Given the description of an element on the screen output the (x, y) to click on. 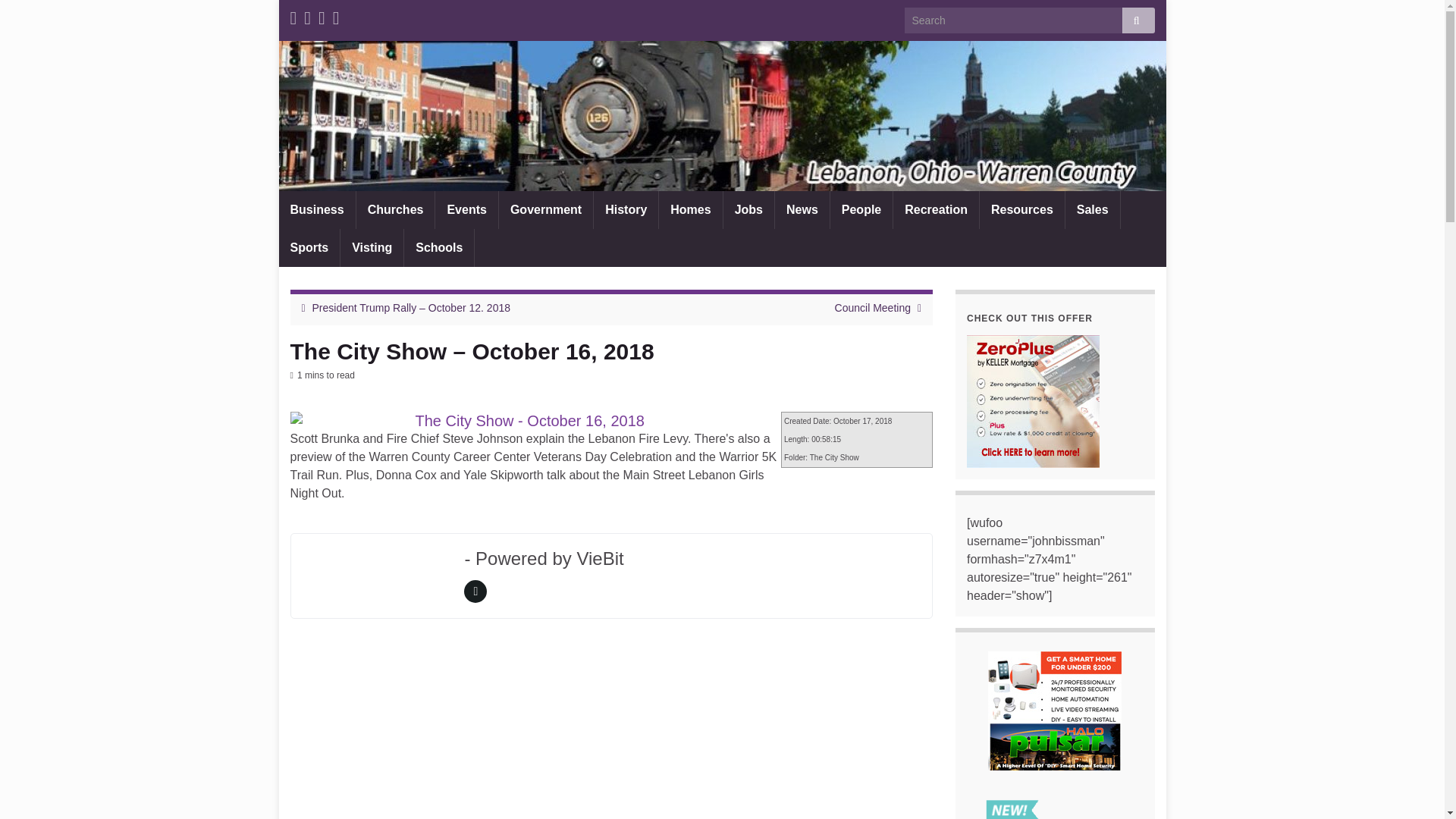
The City Show - October 16, 2018 (529, 420)
Sales (1092, 209)
Events (466, 209)
Sports (309, 247)
Jobs (748, 209)
Schools (439, 247)
Visting (371, 247)
Government (545, 209)
Resources (1021, 209)
Council Meeting (872, 307)
